Given the description of an element on the screen output the (x, y) to click on. 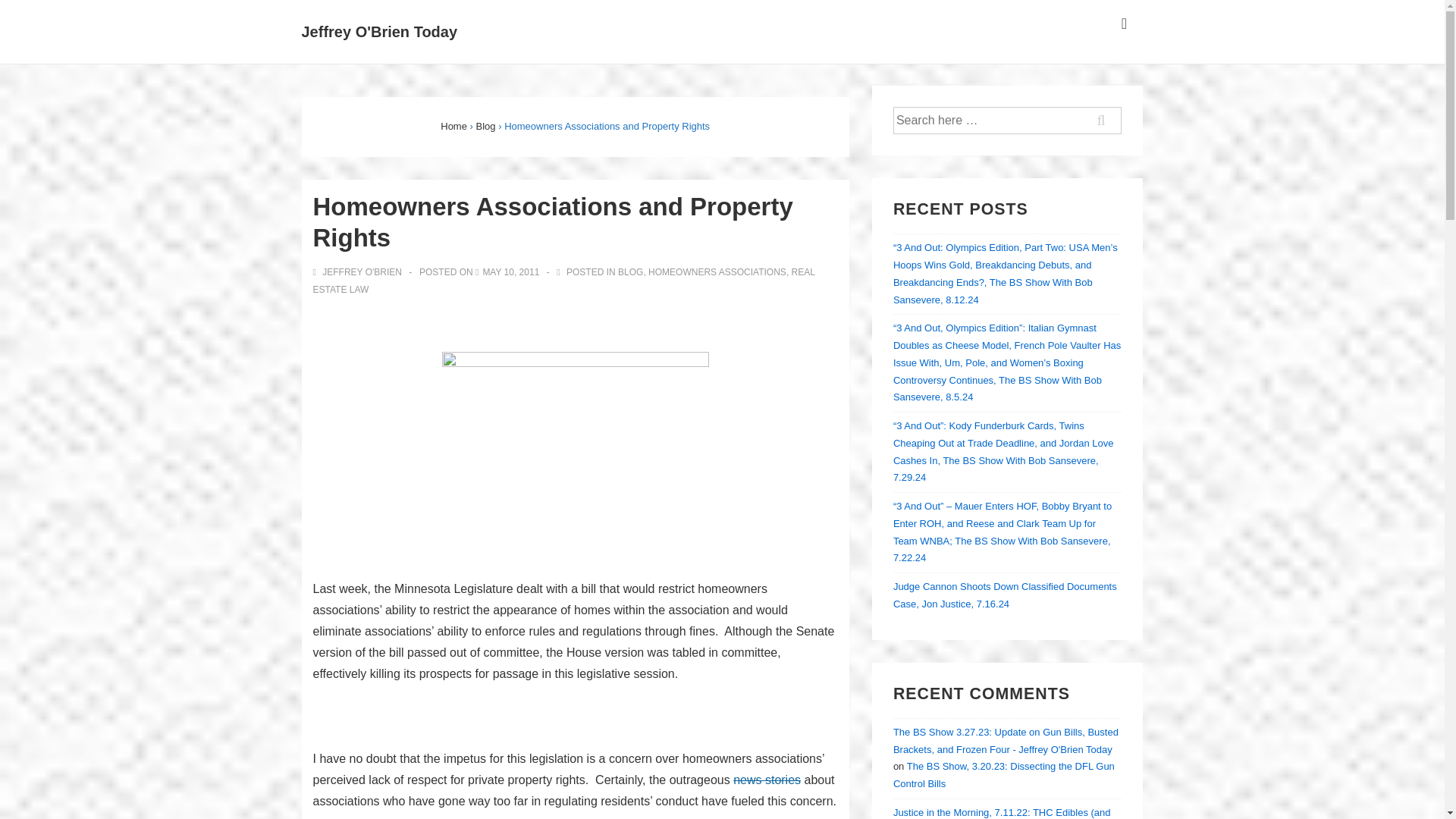
MAY 10, 2011 (509, 271)
Homeowners Associations and Property Rights (509, 271)
MENU (1123, 23)
BLOG (630, 271)
Blog (486, 125)
View all posts by Jeffrey O'Brien (358, 271)
HOMEOWNERS ASSOCIATIONS (716, 271)
news stories (766, 779)
REAL ESTATE LAW (563, 280)
JEFFREY O'BRIEN (358, 271)
